Given the description of an element on the screen output the (x, y) to click on. 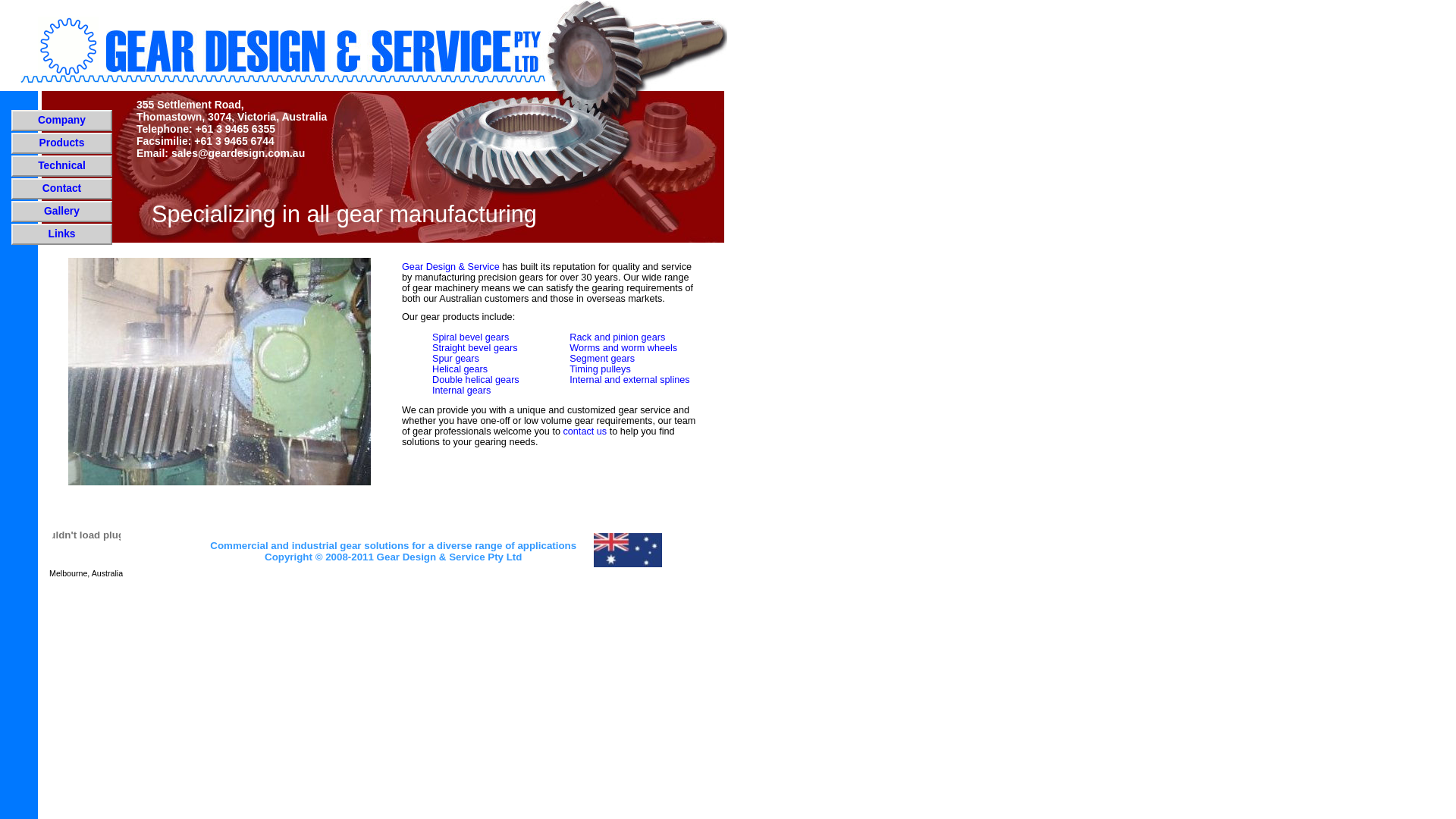
Double helical gears Element type: text (475, 379)
Gallery Element type: text (61, 210)
Internal and external splines Element type: text (629, 379)
Internal gears Element type: text (461, 390)
Segment gears Element type: text (601, 358)
Contact Element type: text (61, 188)
Links Element type: text (61, 233)
Rack and pinion gears Element type: text (617, 337)
Gear Design & Service Element type: text (450, 266)
Spur gears Element type: text (455, 358)
Company Element type: text (61, 119)
Straight bevel gears Element type: text (474, 347)
Spiral bevel gears Element type: text (470, 337)
Products Element type: text (61, 142)
Timing pulleys Element type: text (599, 369)
Technical Element type: text (61, 165)
contact us Element type: text (584, 431)
Worms and worm wheels Element type: text (623, 347)
Helical gears Element type: text (459, 369)
